Given the description of an element on the screen output the (x, y) to click on. 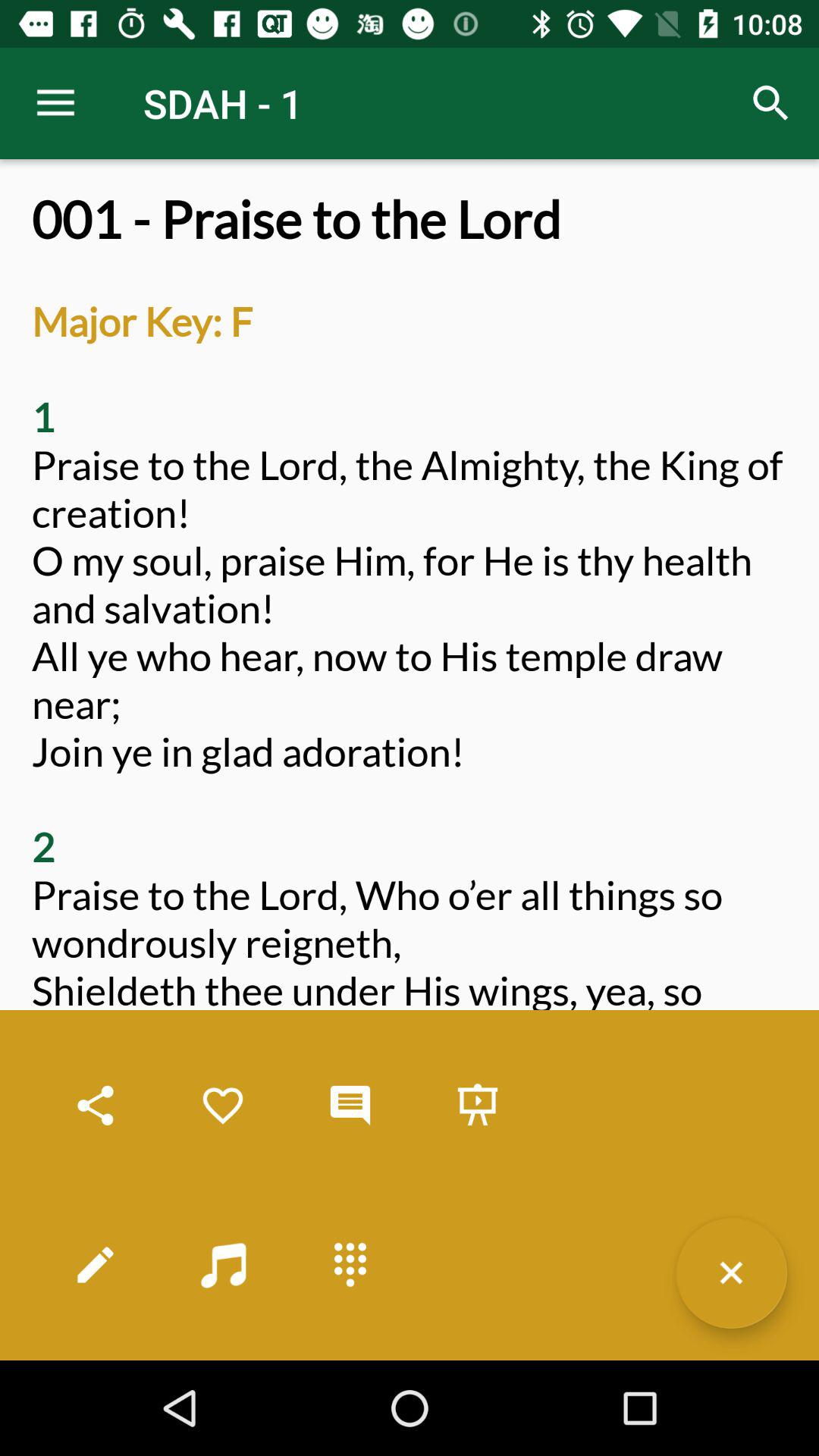
turn on icon to the right of sdah - 1 item (771, 103)
